Given the description of an element on the screen output the (x, y) to click on. 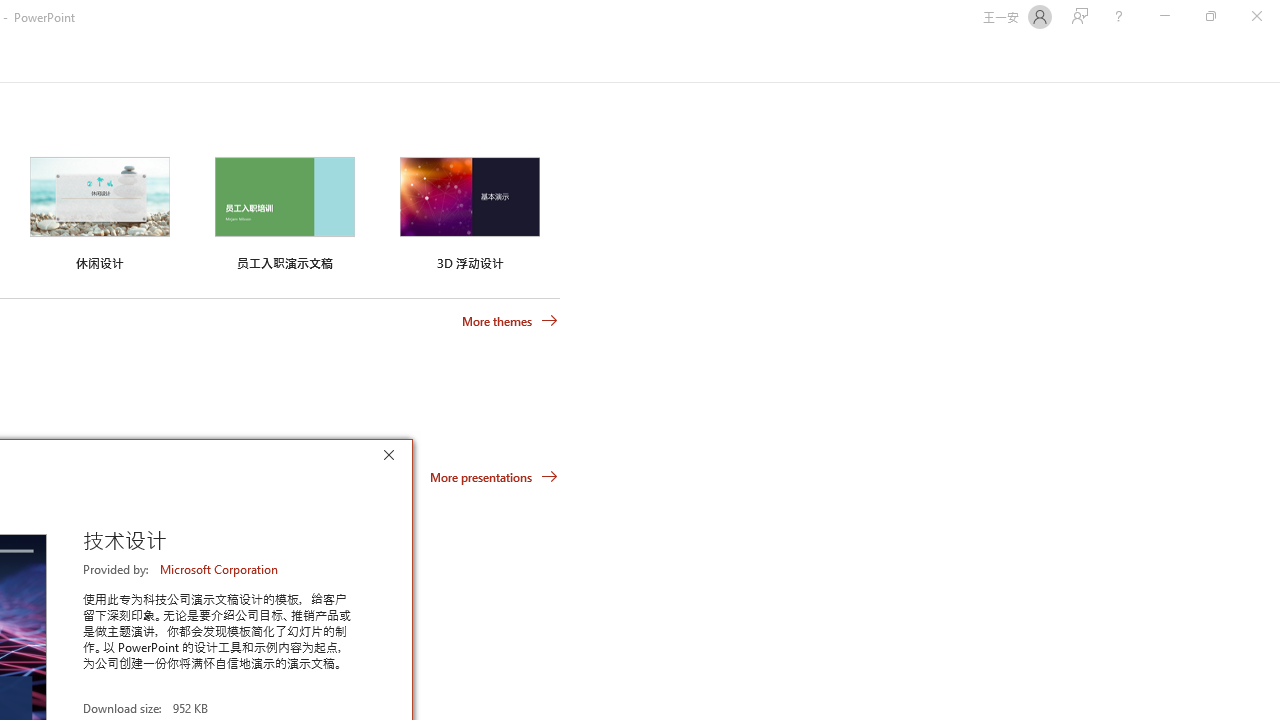
More themes (509, 321)
Microsoft Corporation (220, 569)
More presentations (493, 476)
Class: NetUIScrollBar (1271, 59)
